Given the description of an element on the screen output the (x, y) to click on. 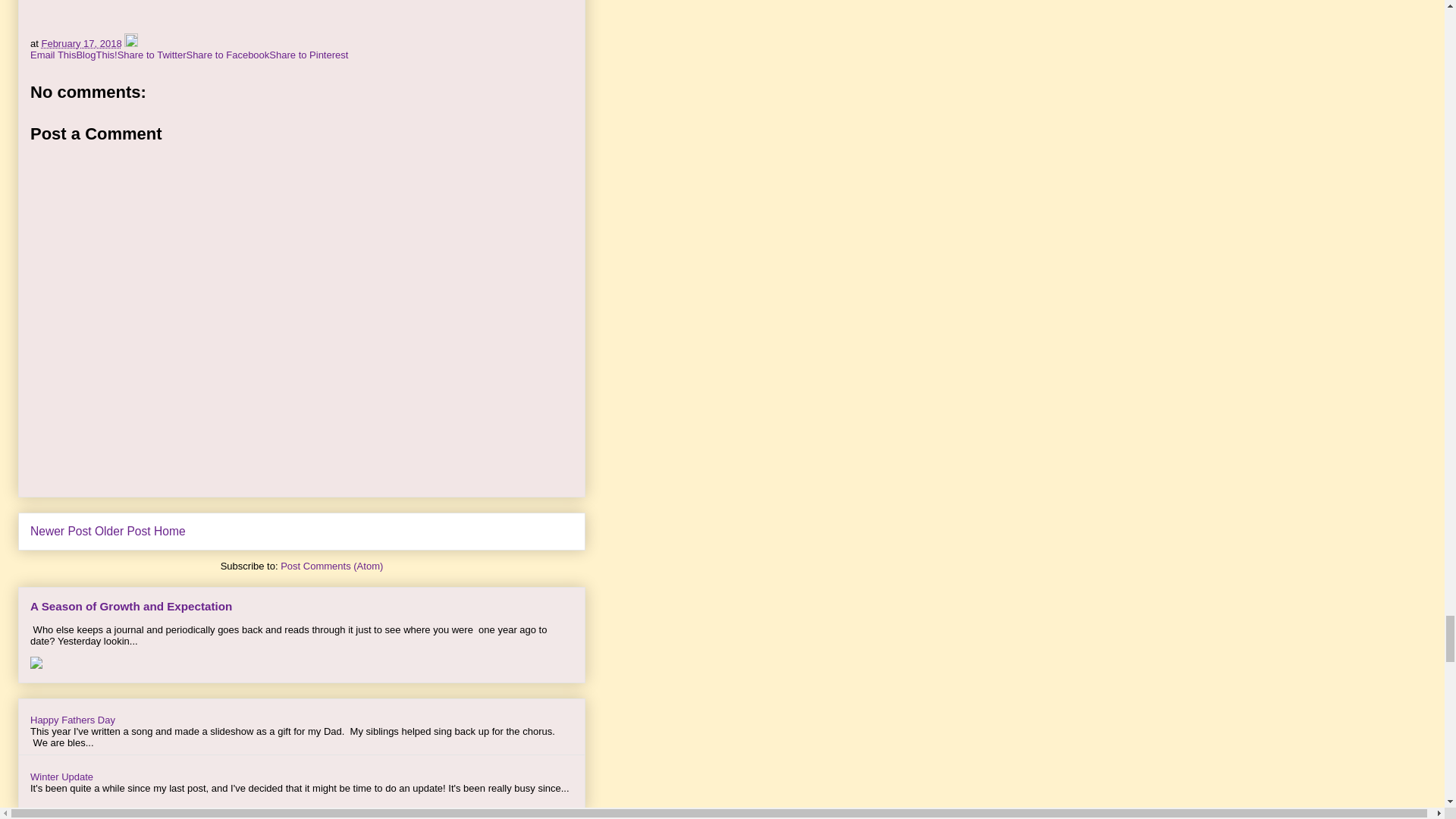
Email This (52, 54)
Email This (52, 54)
Share to Twitter (151, 54)
Edit Post (130, 43)
permanent link (80, 43)
Share to Facebook (227, 54)
Share to Facebook (227, 54)
Newer Post (60, 530)
BlogThis! (95, 54)
Share to Pinterest (308, 54)
BlogThis! (95, 54)
February 17, 2018 (80, 43)
Share to Twitter (151, 54)
Share to Pinterest (308, 54)
Older Post (122, 530)
